Given the description of an element on the screen output the (x, y) to click on. 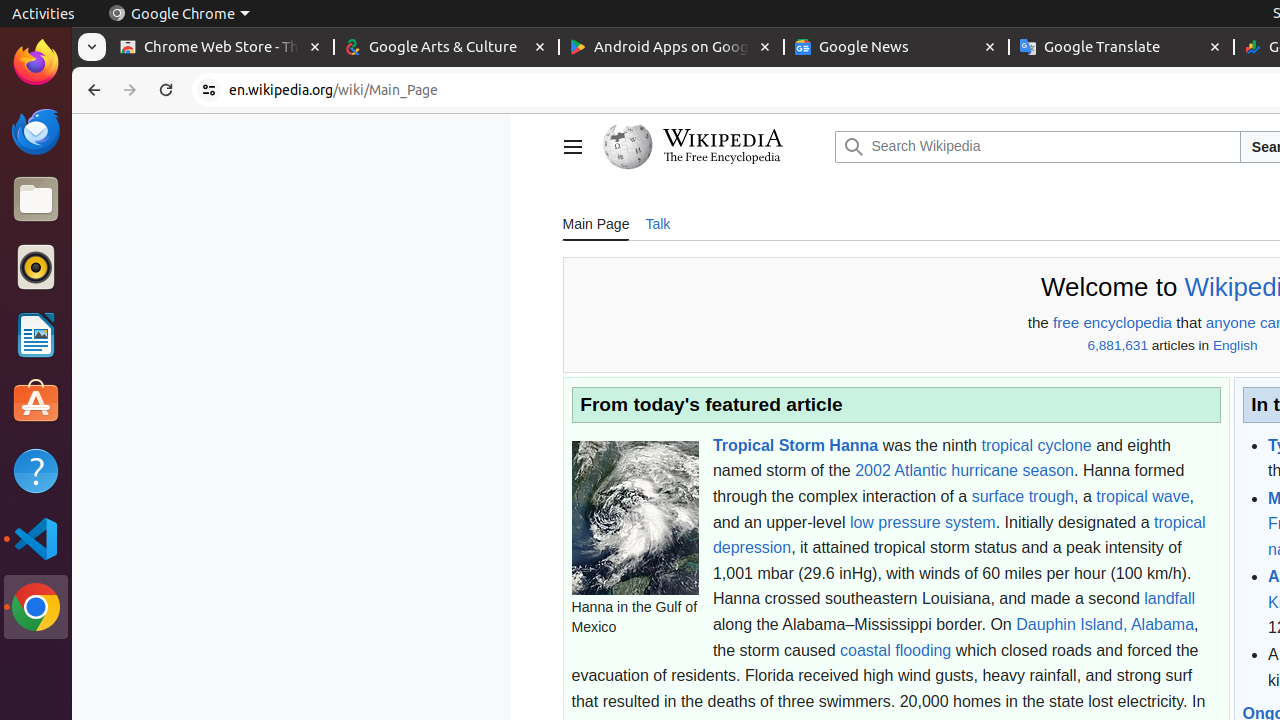
encyclopedia Element type: link (1128, 323)
